Given the description of an element on the screen output the (x, y) to click on. 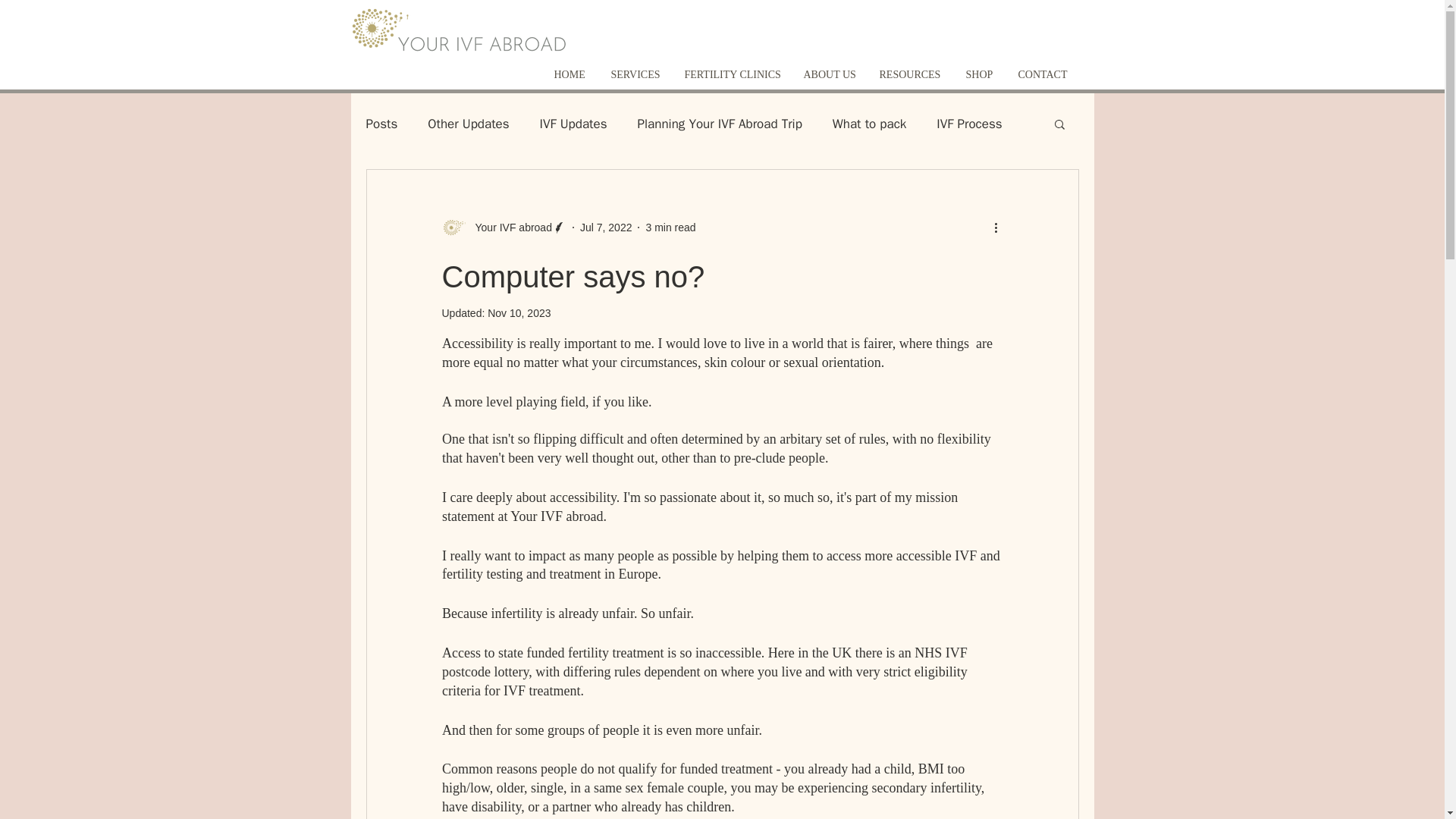
SERVICES (635, 74)
FERTILITY CLINICS (732, 74)
Nov 10, 2023 (518, 313)
Your IVF abroad (508, 227)
SHOP (979, 74)
ABOUT US (829, 74)
RESOURCES (910, 74)
Planning Your IVF Abroad Trip (719, 123)
IVF Updates (573, 123)
CONTACT (1044, 74)
Other Updates (468, 123)
Jul 7, 2022 (605, 227)
What to pack (868, 123)
3 min read (670, 227)
IVF Process (968, 123)
